Given the description of an element on the screen output the (x, y) to click on. 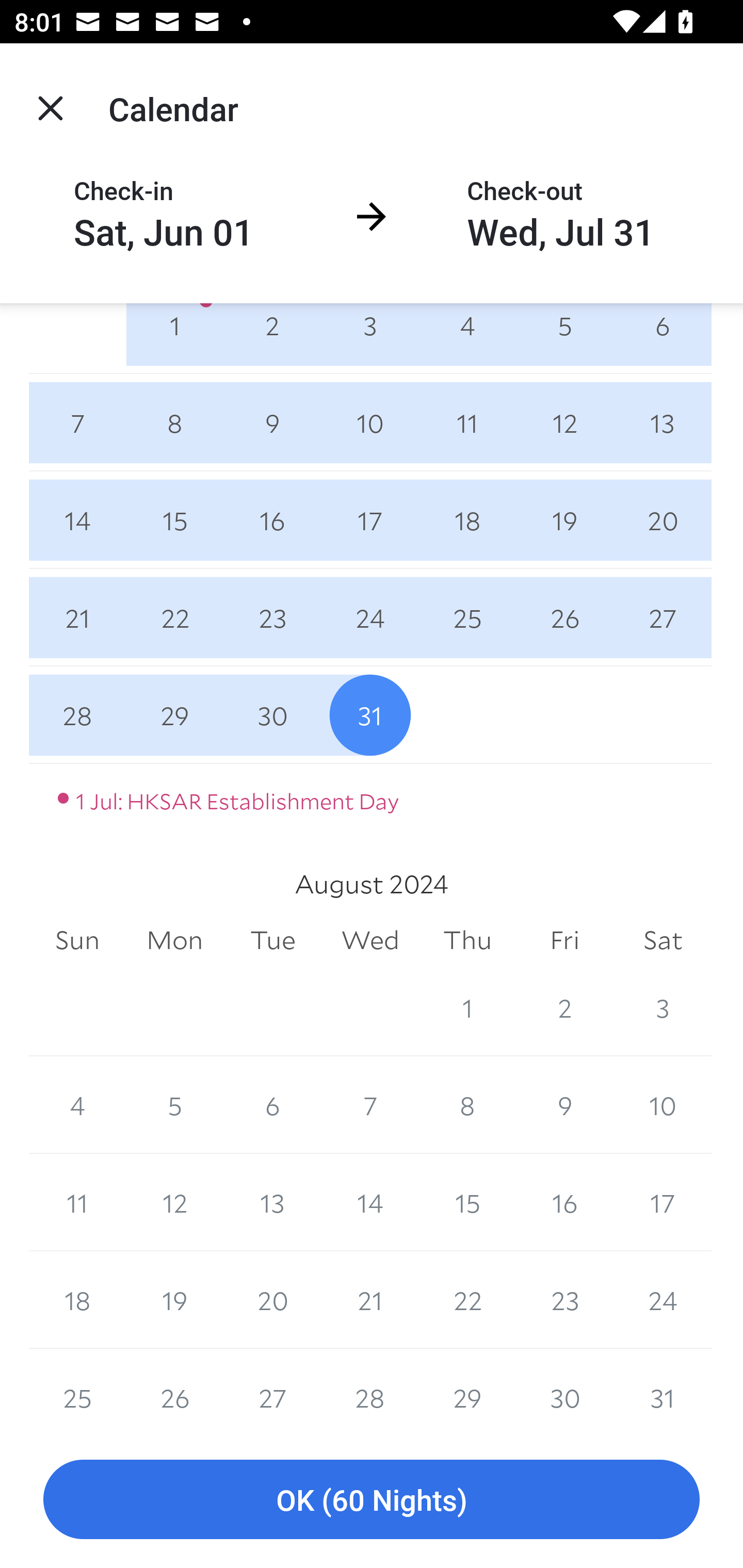
1 1 July 2024 (174, 337)
2 2 July 2024 (272, 337)
3 3 July 2024 (370, 337)
4 4 July 2024 (467, 337)
5 5 July 2024 (564, 337)
6 6 July 2024 (662, 337)
7 7 July 2024 (77, 422)
8 8 July 2024 (174, 422)
9 9 July 2024 (272, 422)
10 10 July 2024 (370, 422)
11 11 July 2024 (467, 422)
12 12 July 2024 (564, 422)
13 13 July 2024 (662, 422)
14 14 July 2024 (77, 520)
15 15 July 2024 (174, 520)
16 16 July 2024 (272, 520)
17 17 July 2024 (370, 520)
18 18 July 2024 (467, 520)
19 19 July 2024 (564, 520)
20 20 July 2024 (662, 520)
21 21 July 2024 (77, 617)
22 22 July 2024 (174, 617)
23 23 July 2024 (272, 617)
24 24 July 2024 (370, 617)
25 25 July 2024 (467, 617)
26 26 July 2024 (564, 617)
27 27 July 2024 (662, 617)
28 28 July 2024 (77, 714)
29 29 July 2024 (174, 714)
30 30 July 2024 (272, 714)
31 31 July 2024 (370, 714)
Sun (77, 940)
Mon (174, 940)
Tue (272, 940)
Wed (370, 940)
Thu (467, 940)
Fri (564, 940)
Sat (662, 940)
1 1 August 2024 (467, 1007)
2 2 August 2024 (564, 1007)
3 3 August 2024 (662, 1007)
4 4 August 2024 (77, 1105)
5 5 August 2024 (174, 1105)
6 6 August 2024 (272, 1105)
7 7 August 2024 (370, 1105)
8 8 August 2024 (467, 1105)
9 9 August 2024 (564, 1105)
10 10 August 2024 (662, 1105)
11 11 August 2024 (77, 1202)
